Given the description of an element on the screen output the (x, y) to click on. 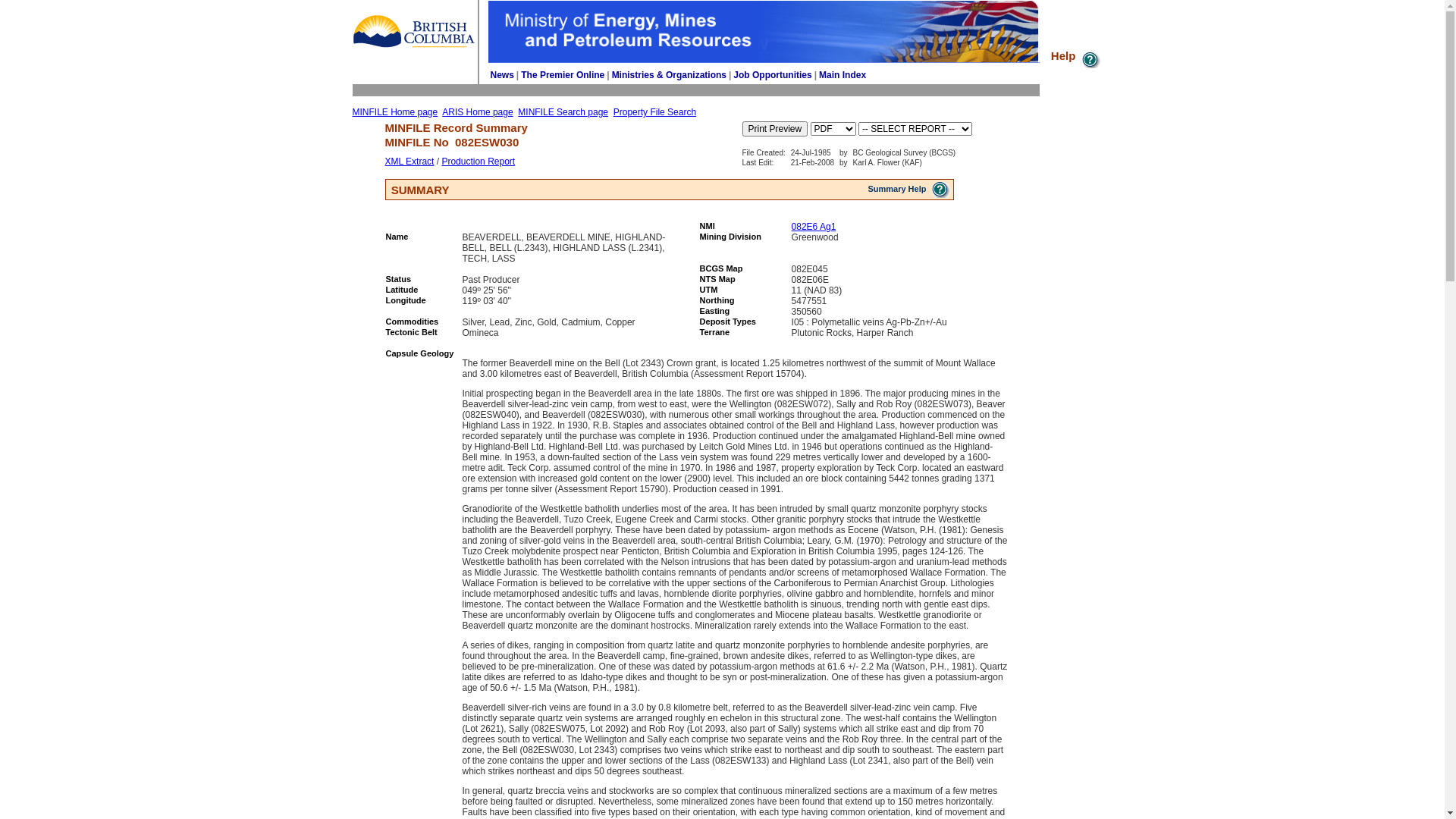
Help Element type: text (1076, 55)
MINFILE Search page Element type: text (562, 111)
Main Index Element type: text (842, 74)
Summary Help Element type: text (908, 188)
082E6 Ag1 Element type: text (813, 226)
ARIS Home page Element type: text (477, 111)
Production Report Element type: text (477, 161)
Print Preview Element type: text (774, 128)
News Element type: text (501, 74)
MINFILE Home page Element type: text (394, 111)
The Premier Online Element type: text (562, 74)
XML Extract Element type: text (409, 161)
Property File Search Element type: text (654, 111)
Job Opportunities Element type: text (772, 74)
Ministries & Organizations Element type: text (668, 74)
